Given the description of an element on the screen output the (x, y) to click on. 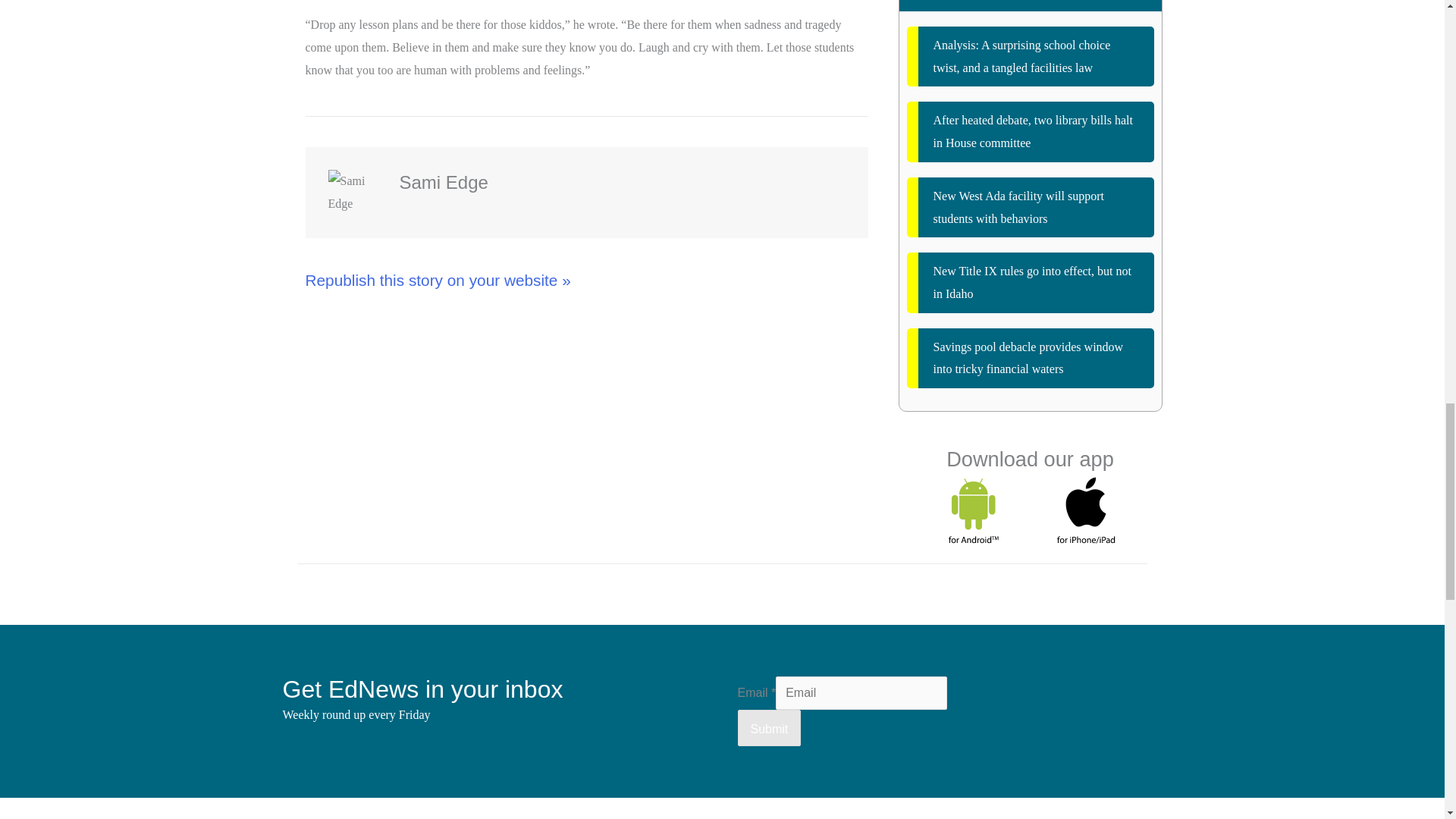
New West Ada facility will support students with behaviors (1030, 207)
New Title IX rules go into effect, but not in Idaho (1030, 282)
Submit (768, 728)
